Given the description of an element on the screen output the (x, y) to click on. 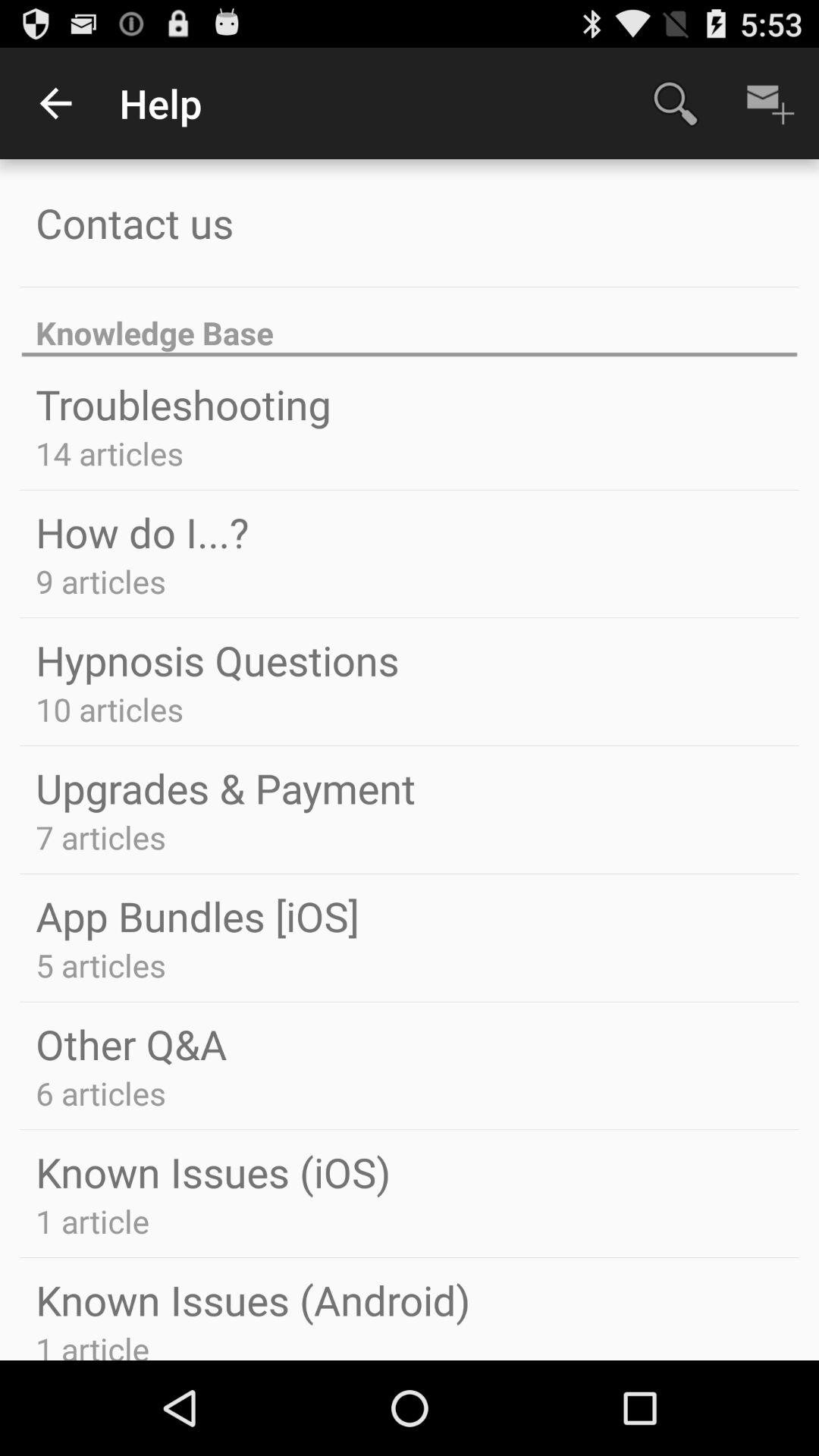
turn off hypnosis questions (217, 659)
